Given the description of an element on the screen output the (x, y) to click on. 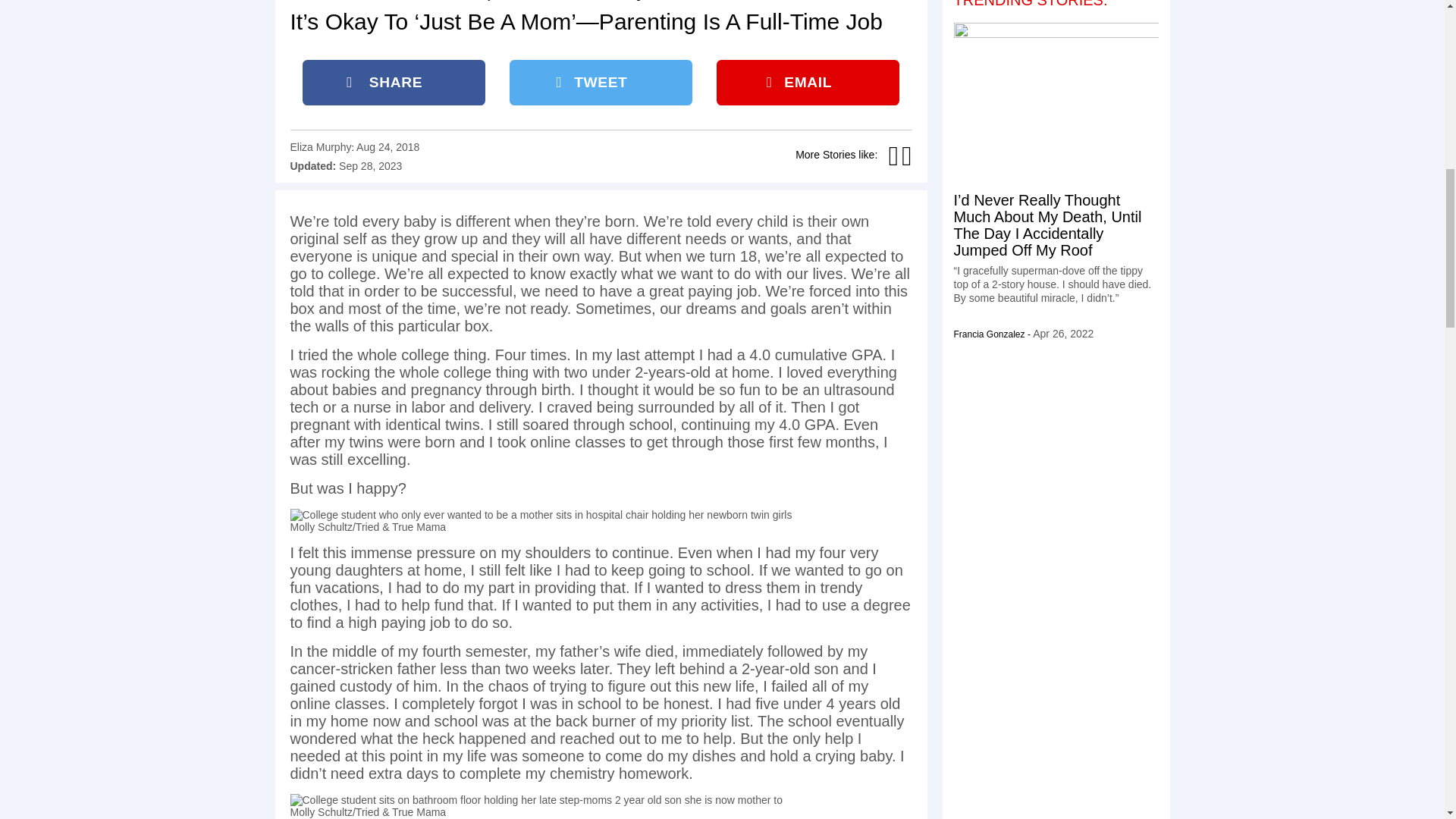
August 24, 2018 (387, 146)
April 26, 2022 (1062, 333)
September 28, 2023 (370, 165)
